Given the description of an element on the screen output the (x, y) to click on. 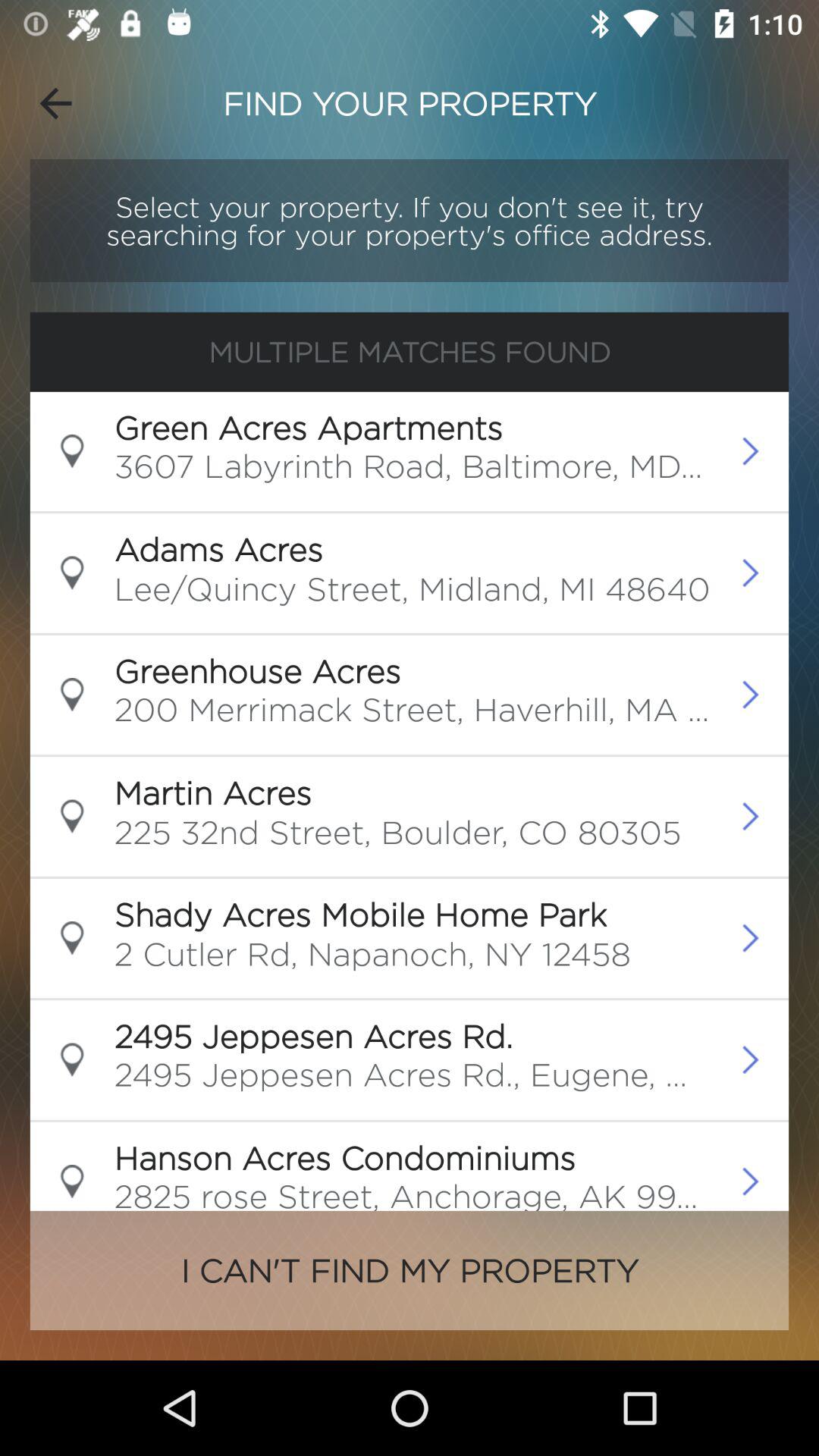
click 2 cutler rd icon (372, 957)
